Given the description of an element on the screen output the (x, y) to click on. 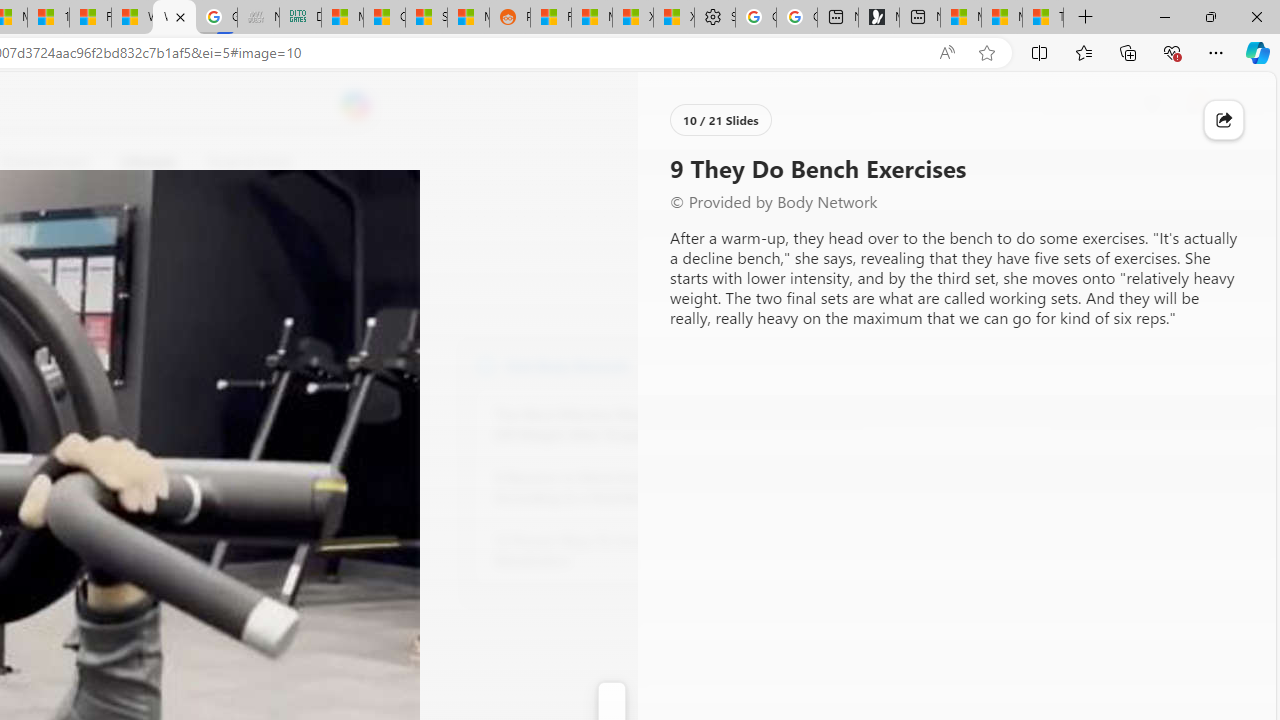
Microsoft Start Gaming (878, 17)
Food & Drink (240, 162)
MSN (468, 17)
Fitness - MSN (90, 17)
Share this story (1224, 119)
